Given the description of an element on the screen output the (x, y) to click on. 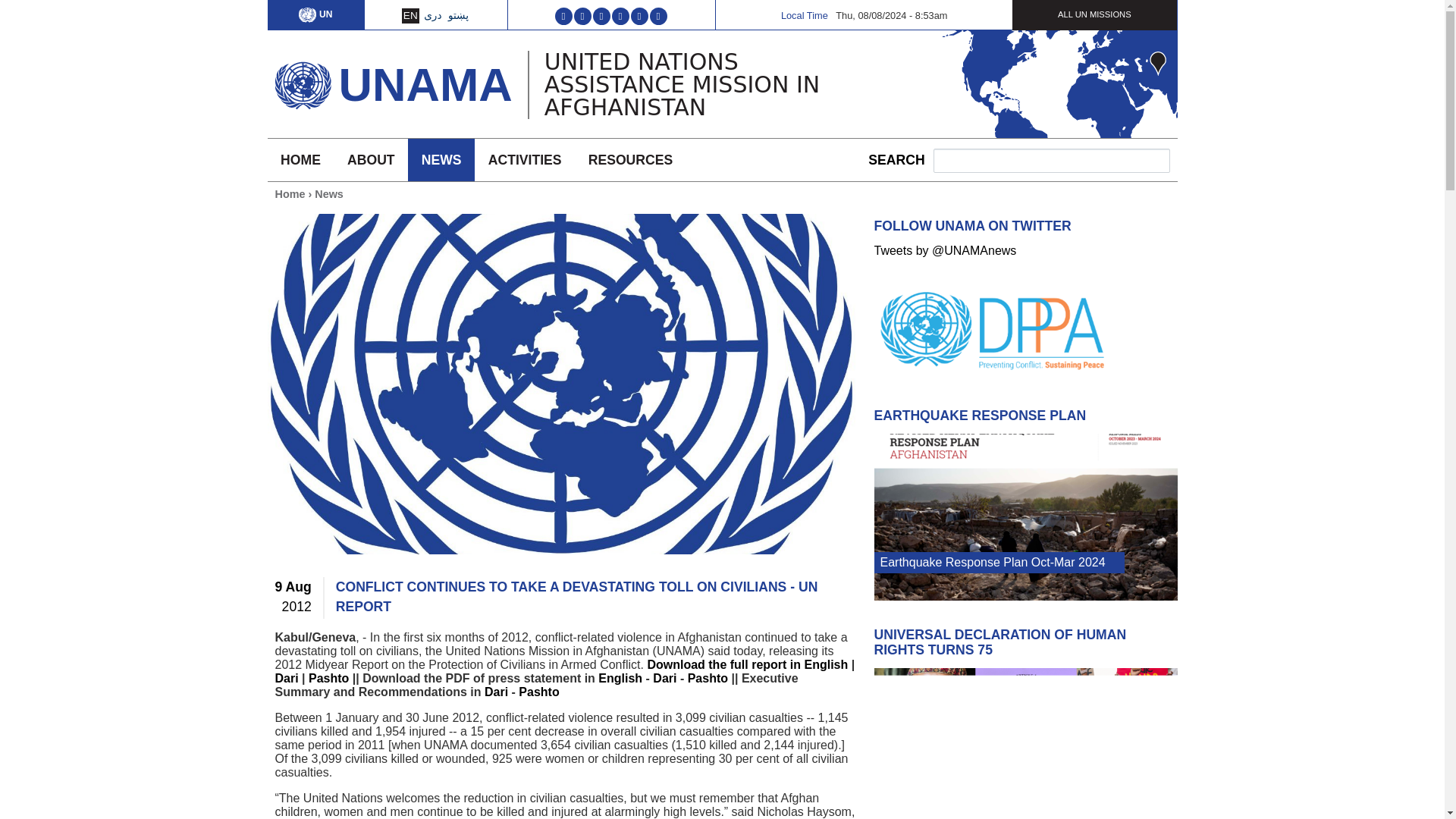
Earthquake Response Plan Oct-Mar 2024 (1026, 517)
RESOURCES (630, 159)
NEWS (440, 159)
Home (301, 80)
UNAMA (424, 84)
ABOUT (370, 159)
Home (424, 84)
ALL UN MISSIONS (1094, 13)
Enter the terms you wish to search for. (1051, 160)
ACTIVITIES (524, 159)
UN (314, 14)
HOME (299, 159)
EN (410, 15)
